Given the description of an element on the screen output the (x, y) to click on. 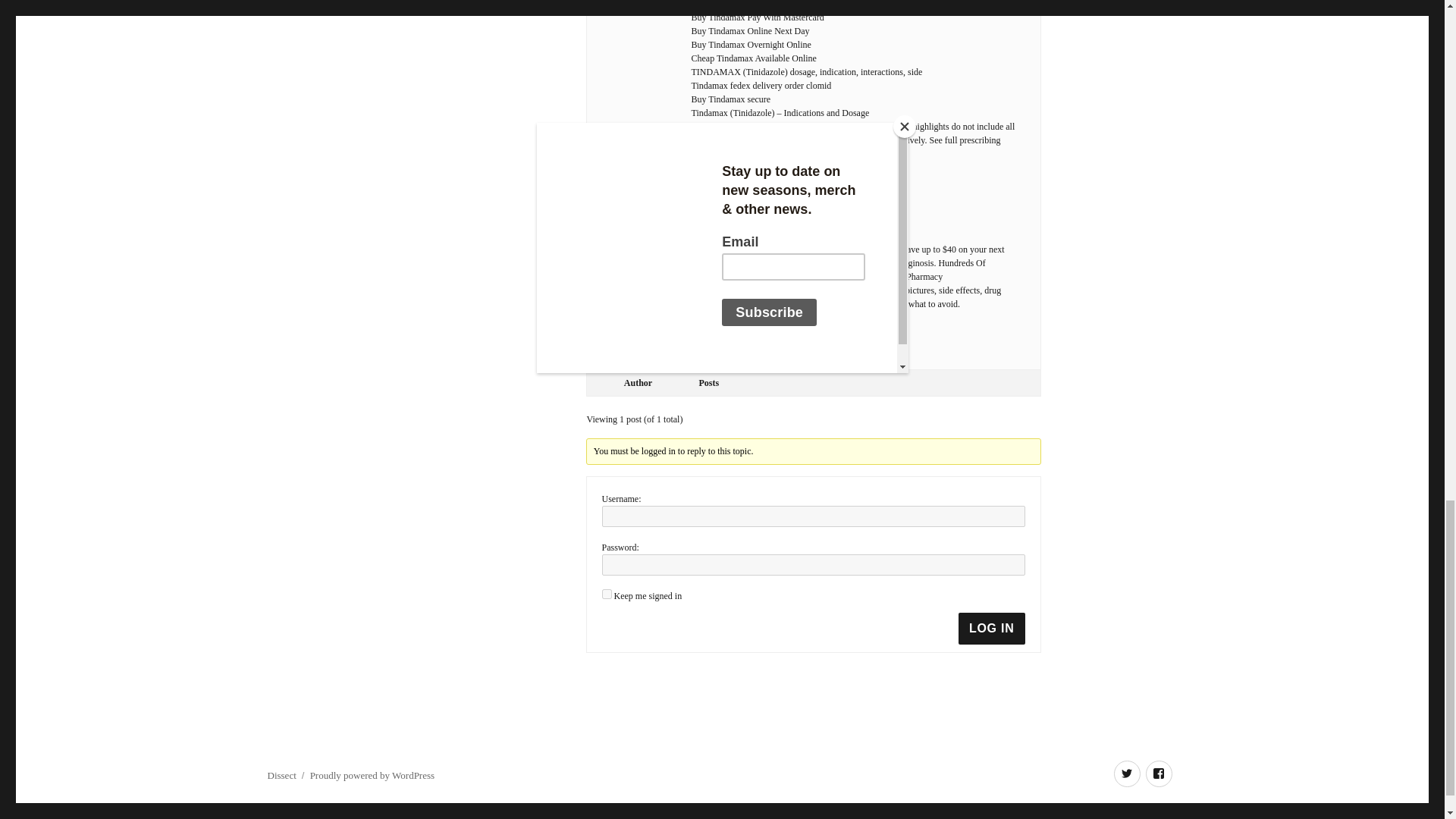
Dissect (280, 775)
Facebook (1158, 773)
Twitter (1126, 773)
forever (606, 593)
Proudly powered by WordPress (371, 775)
LOG IN (991, 628)
